Given the description of an element on the screen output the (x, y) to click on. 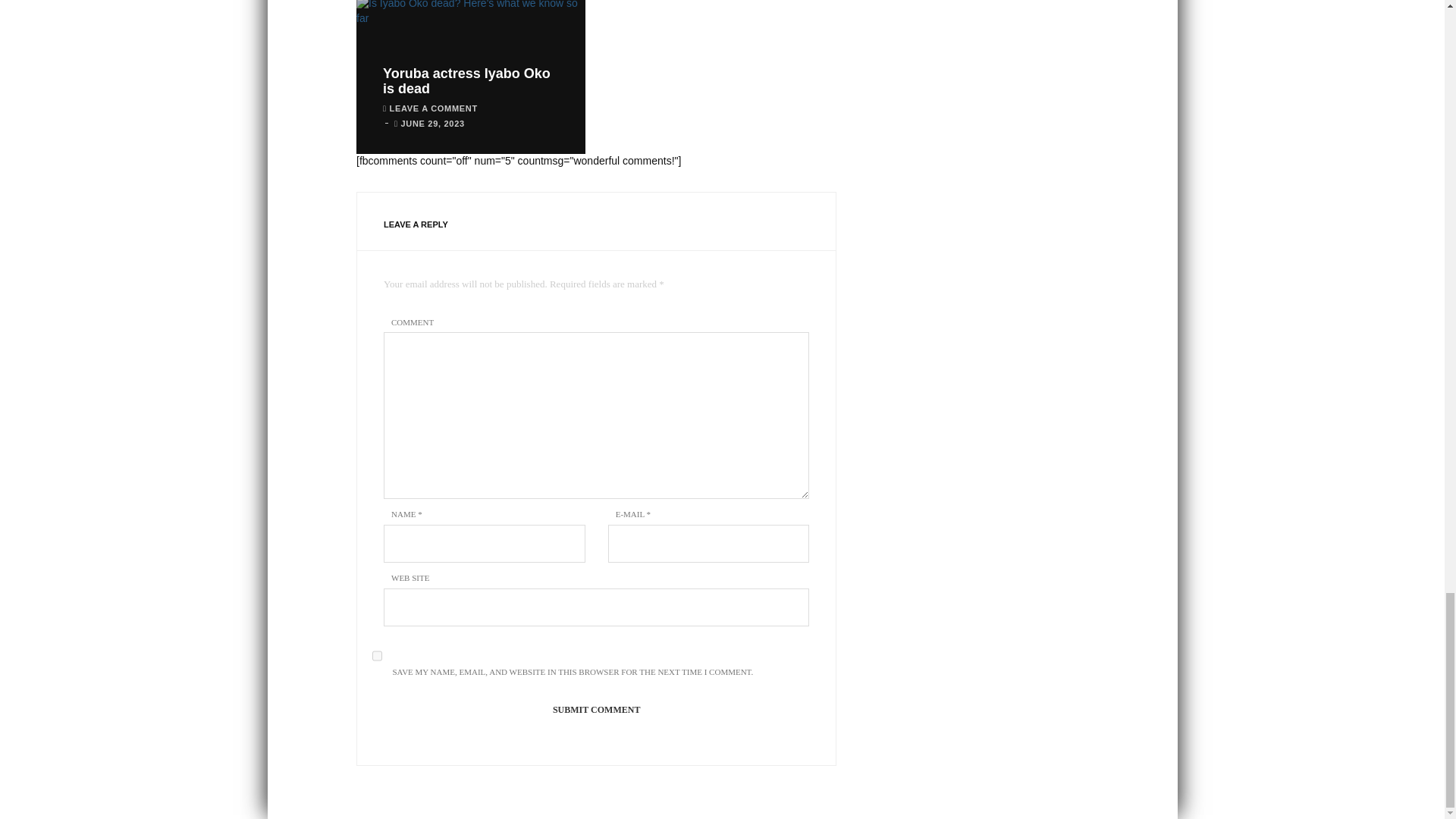
Submit Comment (596, 710)
